Given the description of an element on the screen output the (x, y) to click on. 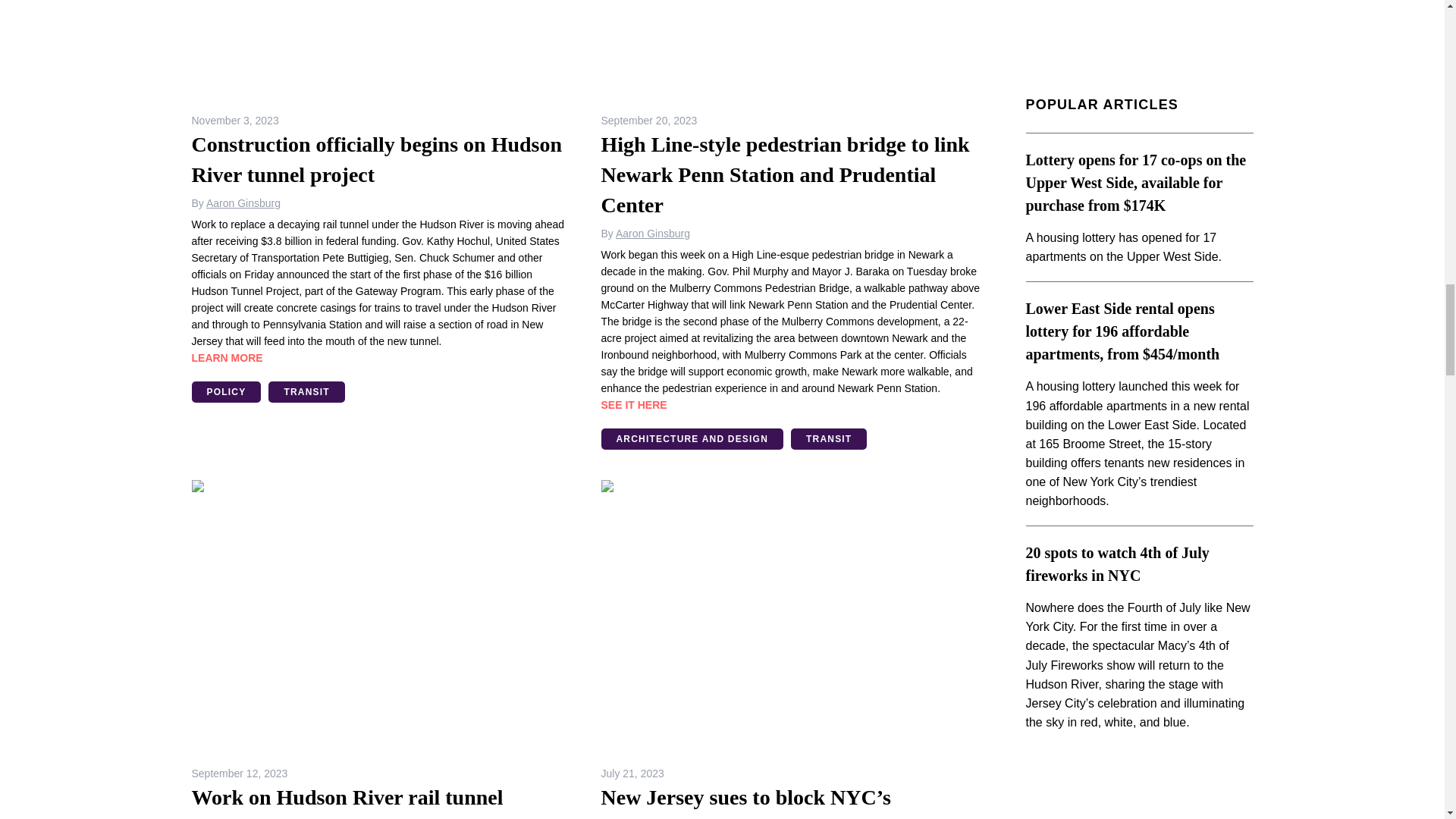
Posts by Aaron Ginsburg (652, 233)
Posts by Aaron Ginsburg (243, 203)
